Given the description of an element on the screen output the (x, y) to click on. 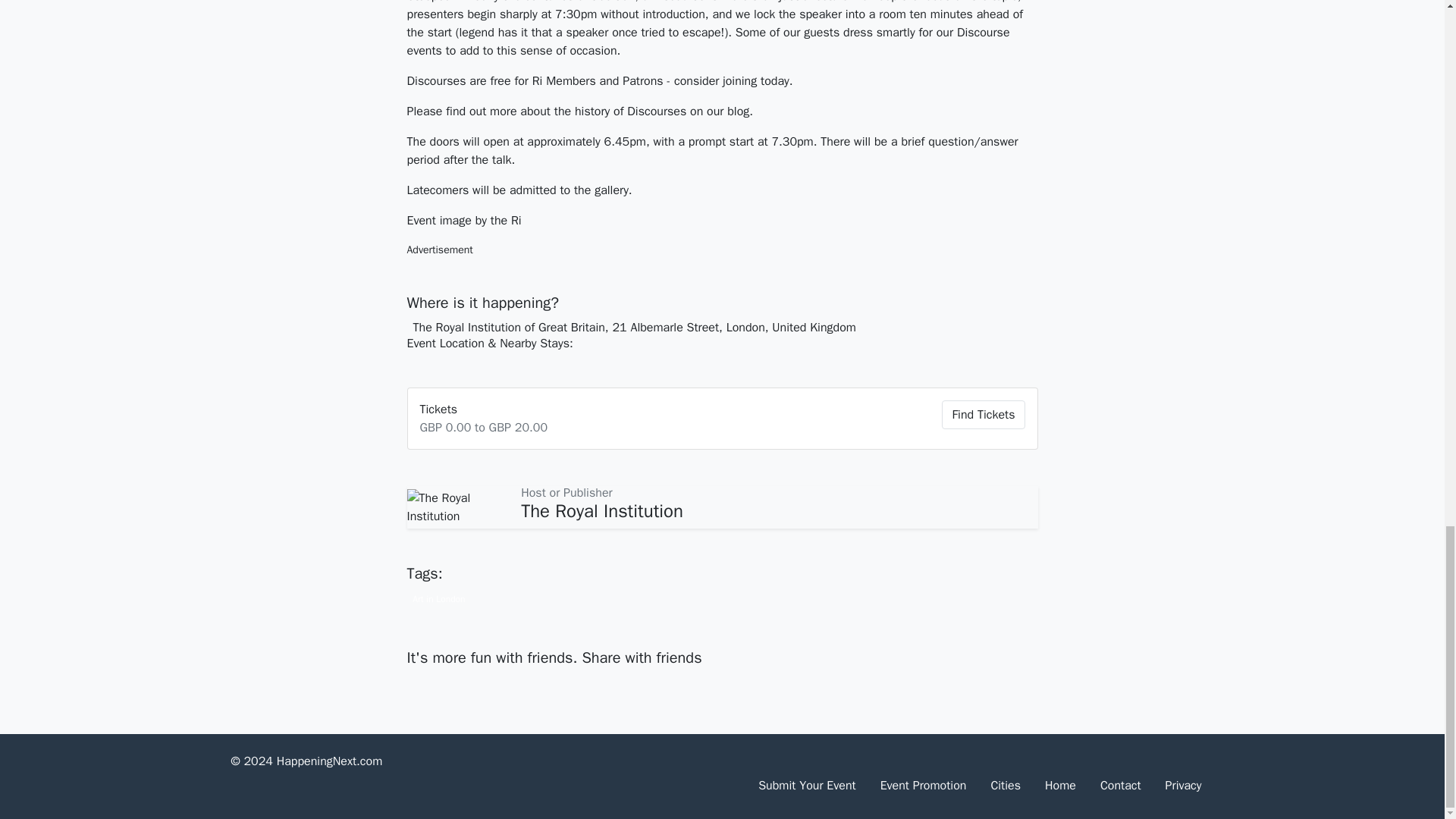
Cities (1005, 785)
Select Your City (1005, 785)
Privacy (1183, 785)
Submit Your Event (806, 785)
Submit Your Event (806, 785)
Find Tickets (983, 414)
Art in London (438, 598)
Contact (1120, 785)
Promote Your Event (922, 785)
Contact Us (1120, 785)
